Given the description of an element on the screen output the (x, y) to click on. 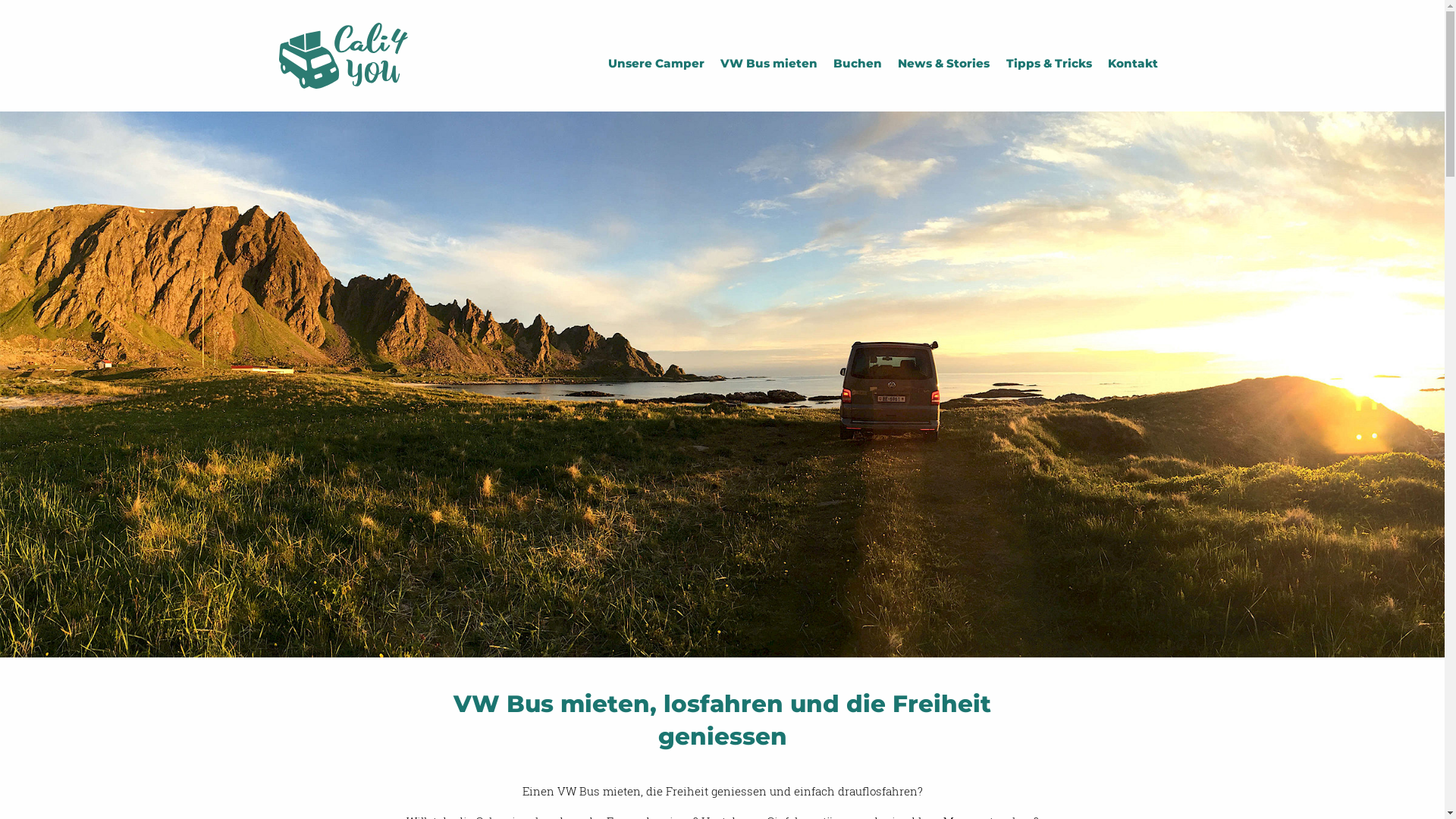
Kontakt Element type: text (1132, 62)
Tipps & Tricks Element type: text (1048, 62)
News & Stories Element type: text (943, 62)
VW Bus mieten Element type: text (768, 62)
Buchen Element type: text (857, 62)
Unsere Camper Element type: text (655, 62)
